Given the description of an element on the screen output the (x, y) to click on. 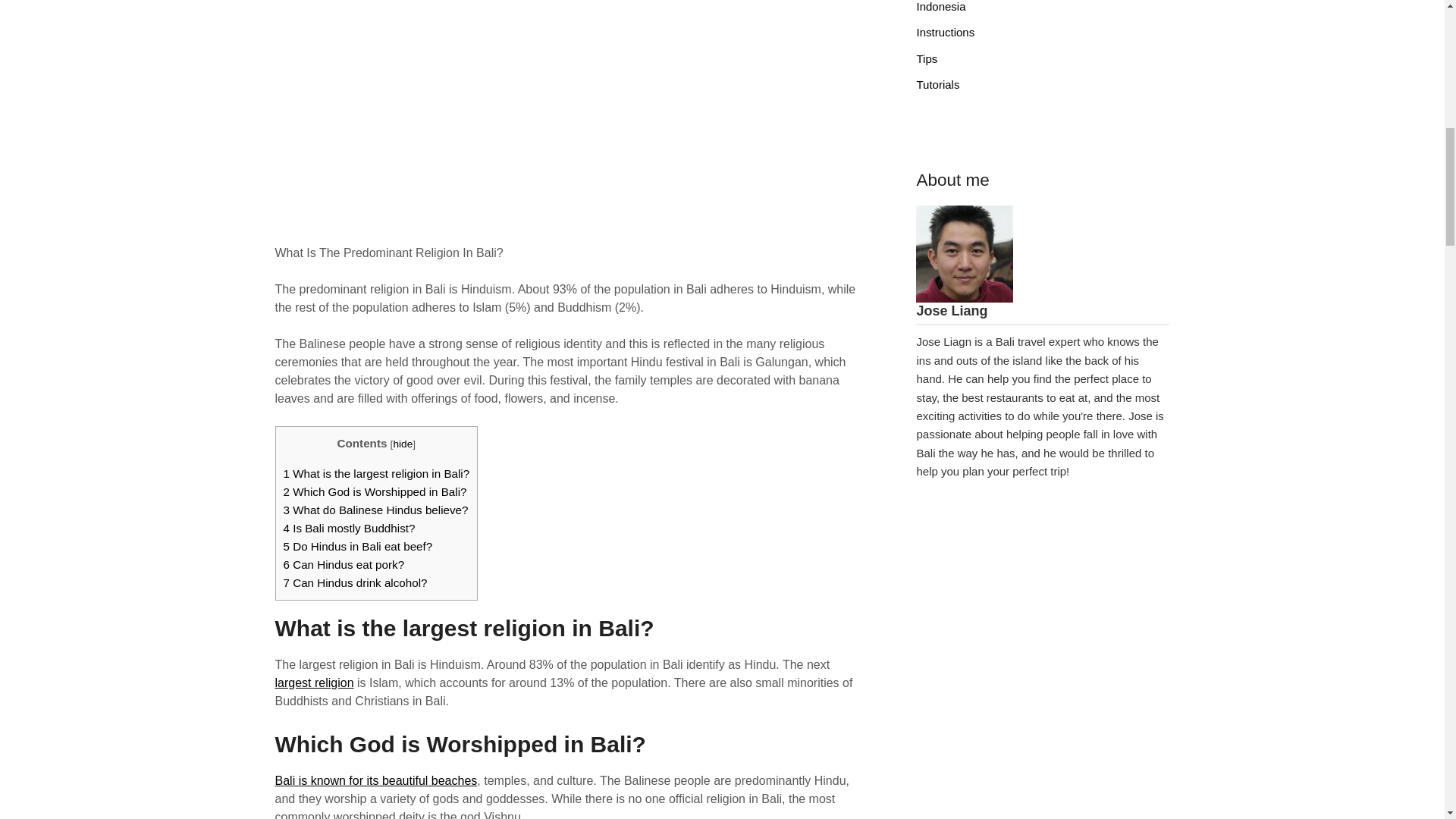
hide (402, 443)
Bali is known for its beautiful beaches (376, 779)
4 Is Bali mostly Buddhist? (348, 527)
7 Can Hindus drink alcohol? (355, 582)
5 Do Hindus in Bali eat beef? (357, 545)
1 What is the largest religion in Bali? (376, 472)
largest religion (314, 682)
6 Can Hindus eat pork? (343, 563)
2 Which God is Worshipped in Bali? (375, 491)
3 What do Balinese Hindus believe? (375, 509)
